Given the description of an element on the screen output the (x, y) to click on. 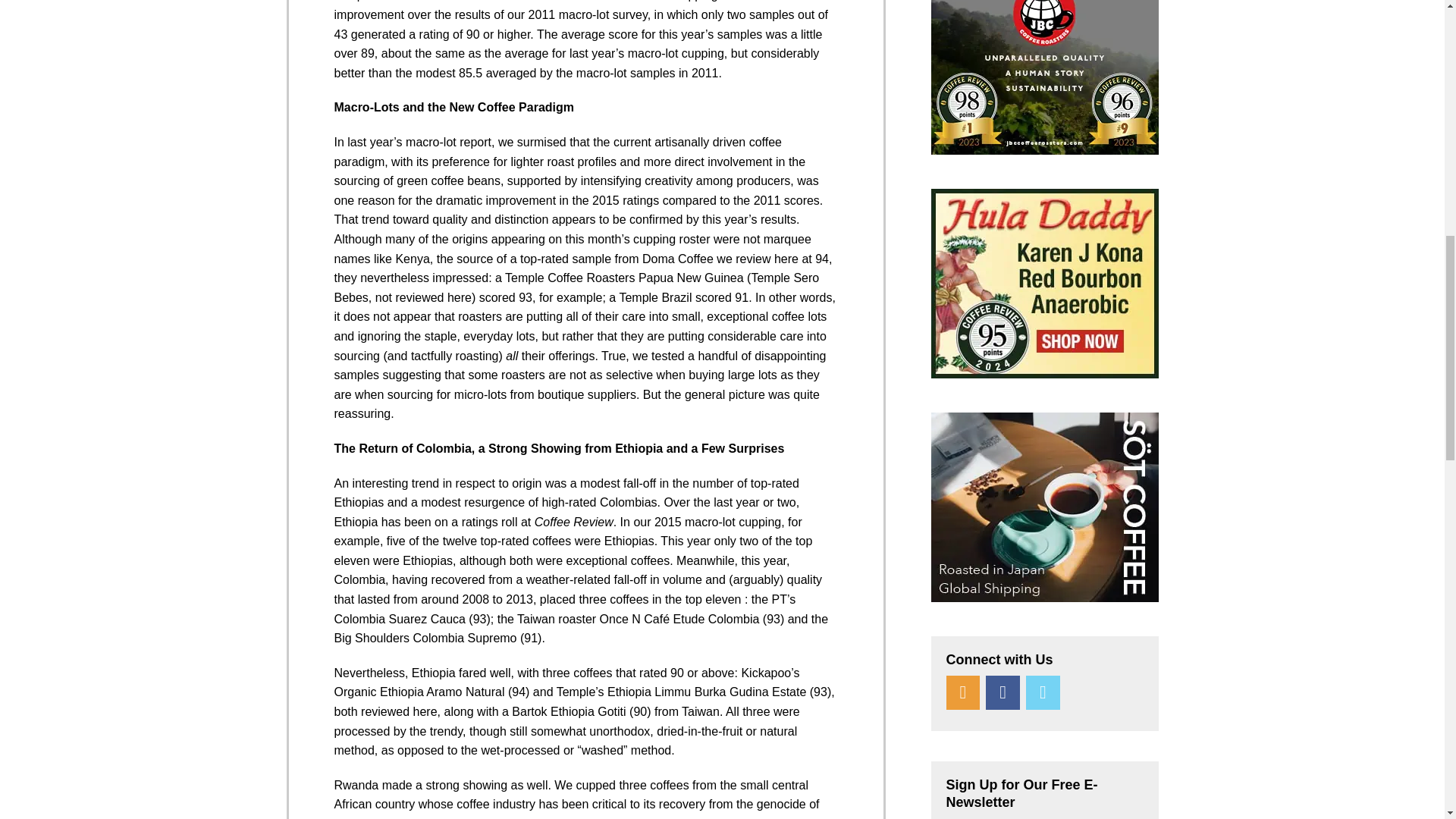
Twitter (1042, 692)
RSS (962, 692)
Facebook (1002, 692)
